Given the description of an element on the screen output the (x, y) to click on. 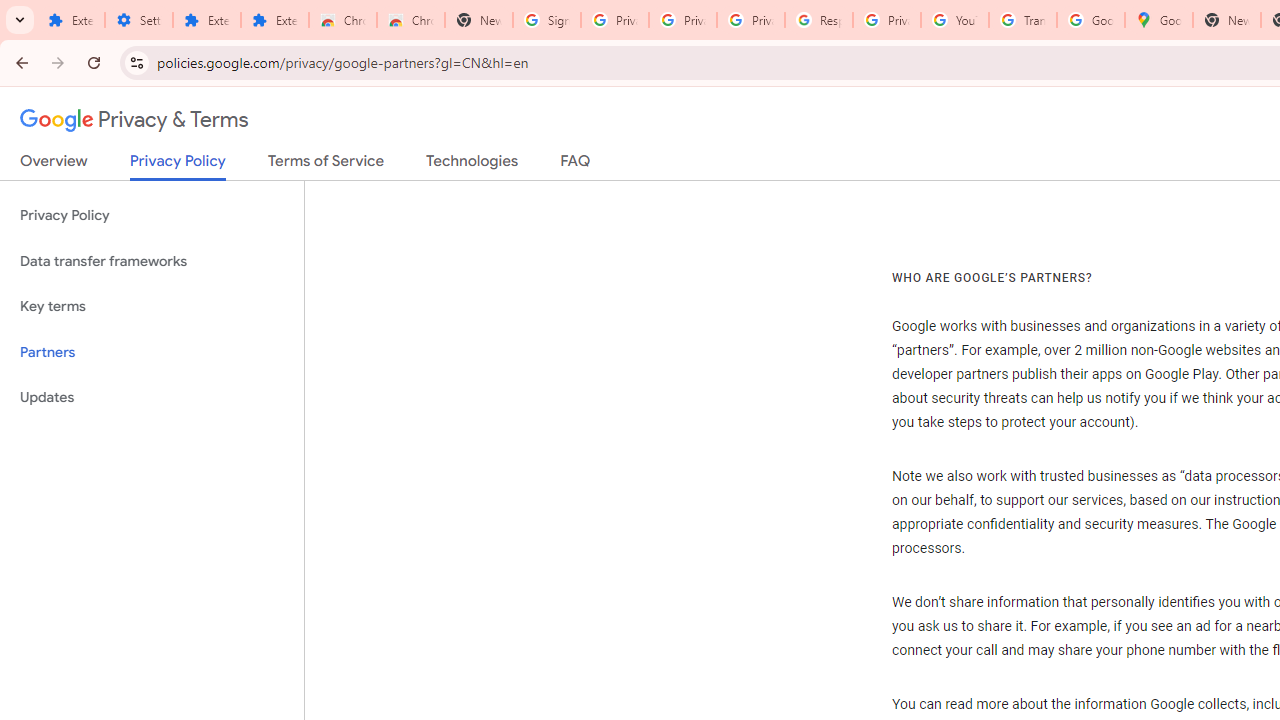
Sign in - Google Accounts (547, 20)
Google Maps (1158, 20)
